Given the description of an element on the screen output the (x, y) to click on. 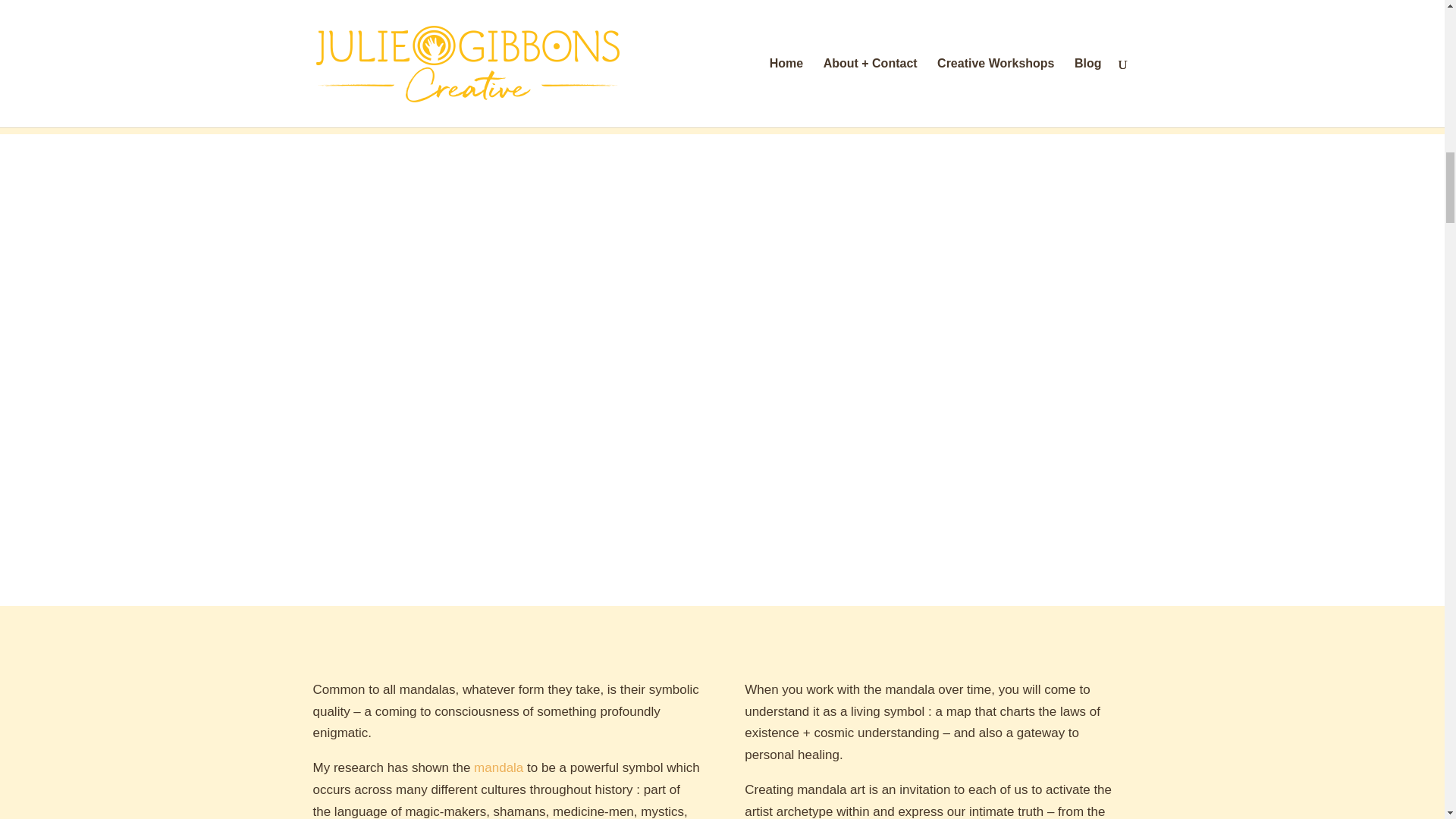
mandala (498, 767)
